Given the description of an element on the screen output the (x, y) to click on. 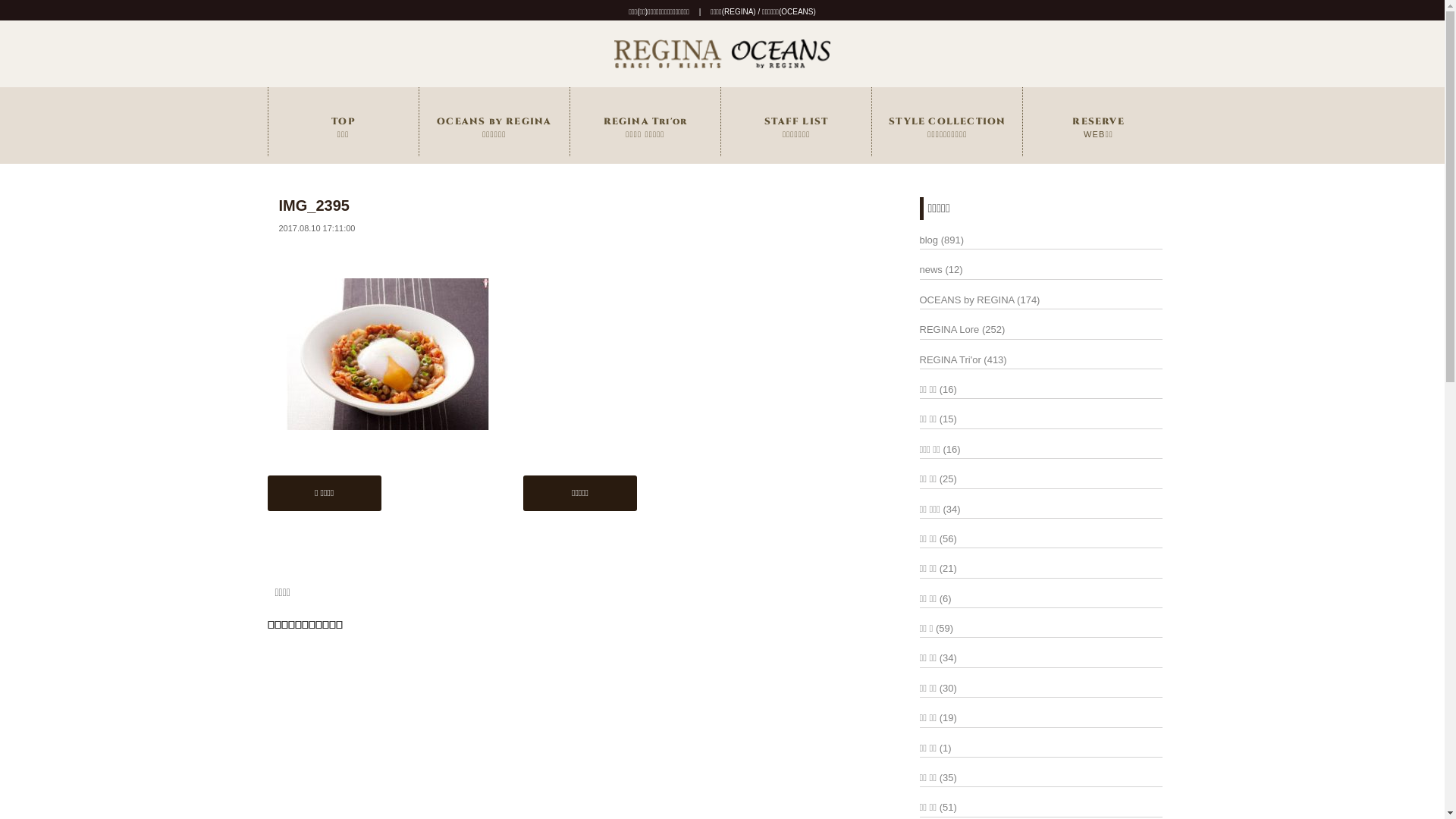
REGINA Tri'or Element type: text (949, 359)
news Element type: text (930, 269)
IMG_2395 Element type: text (314, 205)
OCEANS by REGINA Element type: text (966, 299)
blog Element type: text (928, 239)
REGINA Lore Element type: text (949, 329)
